Given the description of an element on the screen output the (x, y) to click on. 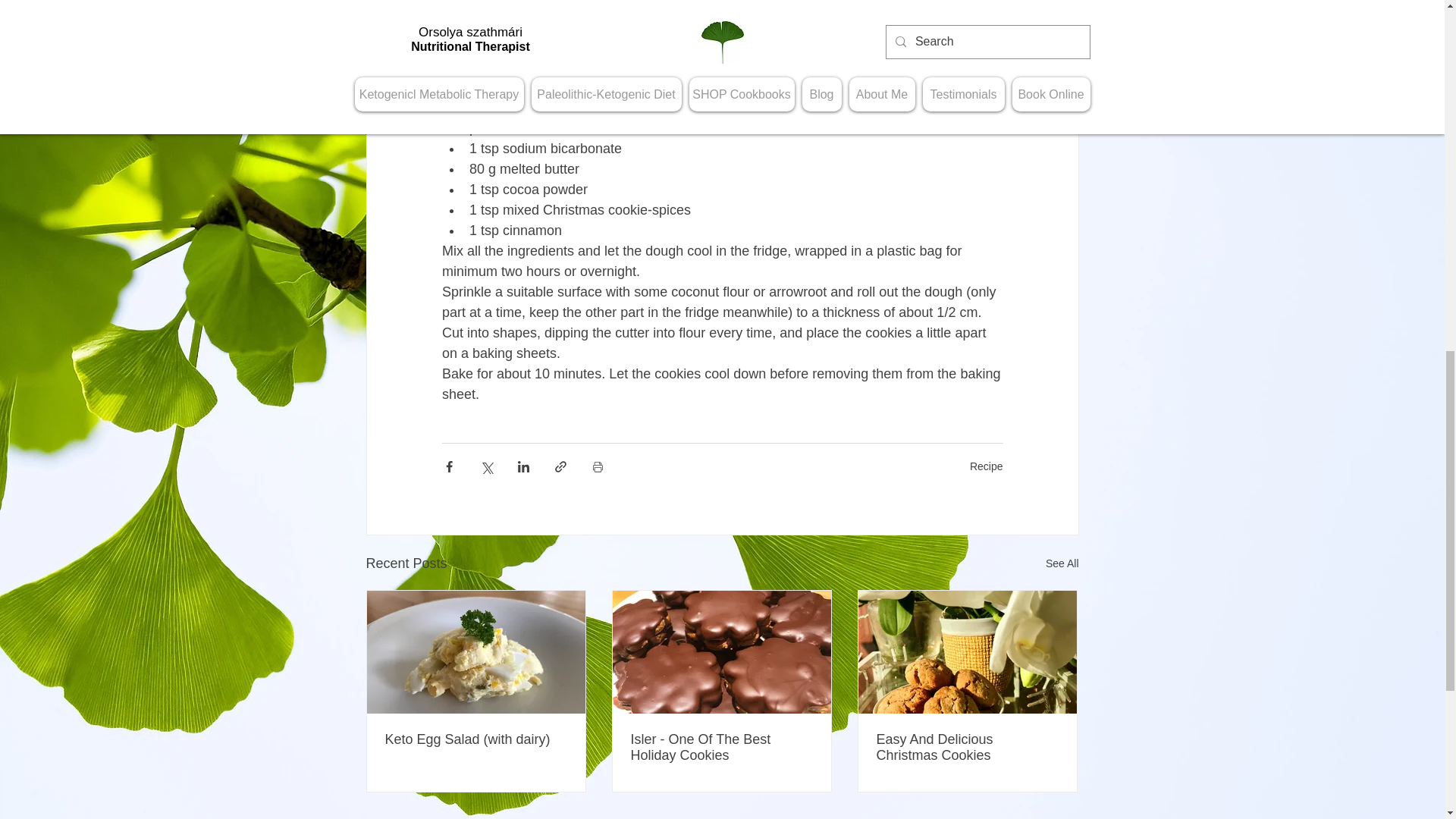
Easy And Delicious Christmas Cookies (967, 747)
Isler - One Of The Best Holiday Cookies (721, 747)
See All (1061, 563)
Recipe (986, 465)
